Given the description of an element on the screen output the (x, y) to click on. 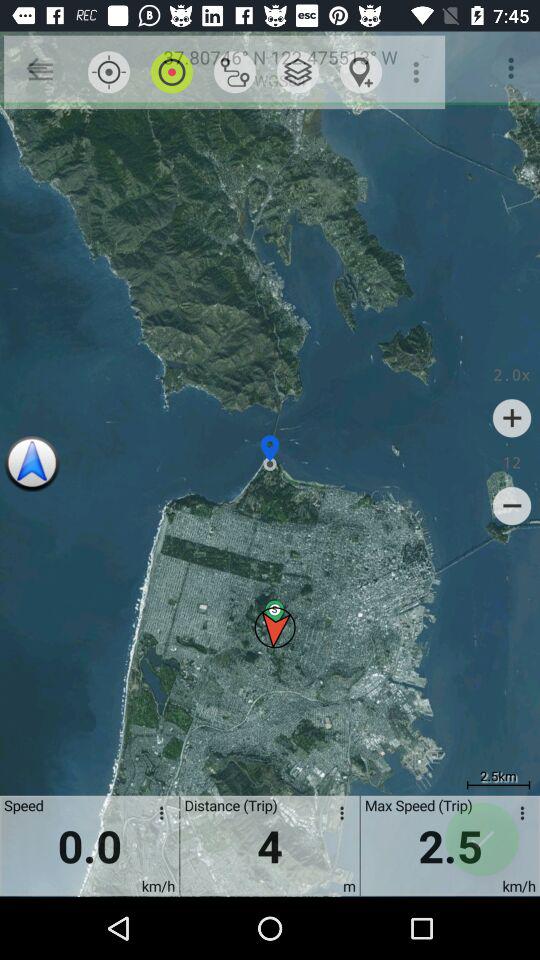
click the item above max speed (trip) item (418, 71)
